Given the description of an element on the screen output the (x, y) to click on. 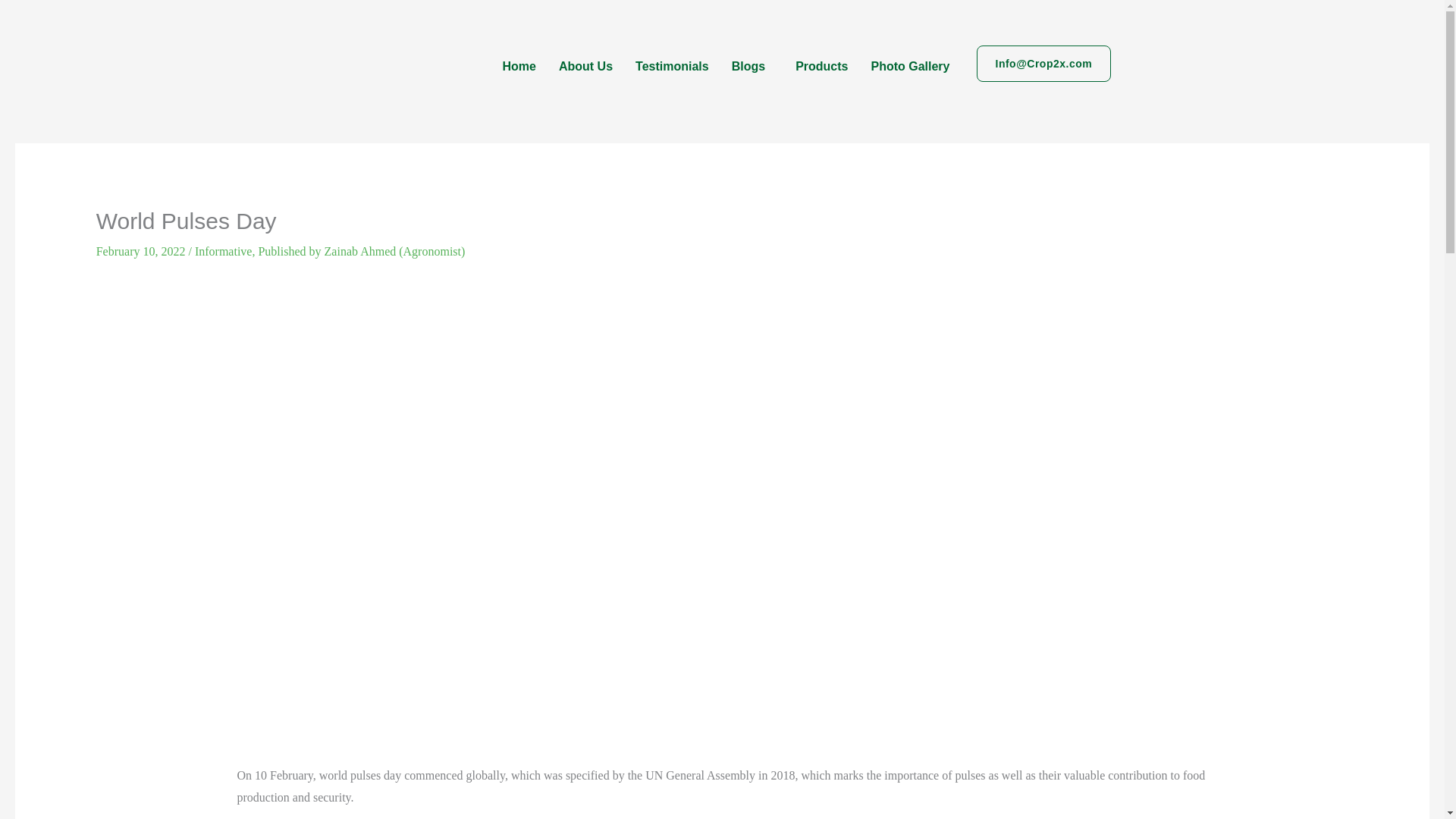
Home (518, 65)
About Us (585, 65)
Blogs (752, 65)
Photo Gallery (909, 65)
Testimonials (672, 65)
Informative (223, 250)
Products (821, 65)
